Given the description of an element on the screen output the (x, y) to click on. 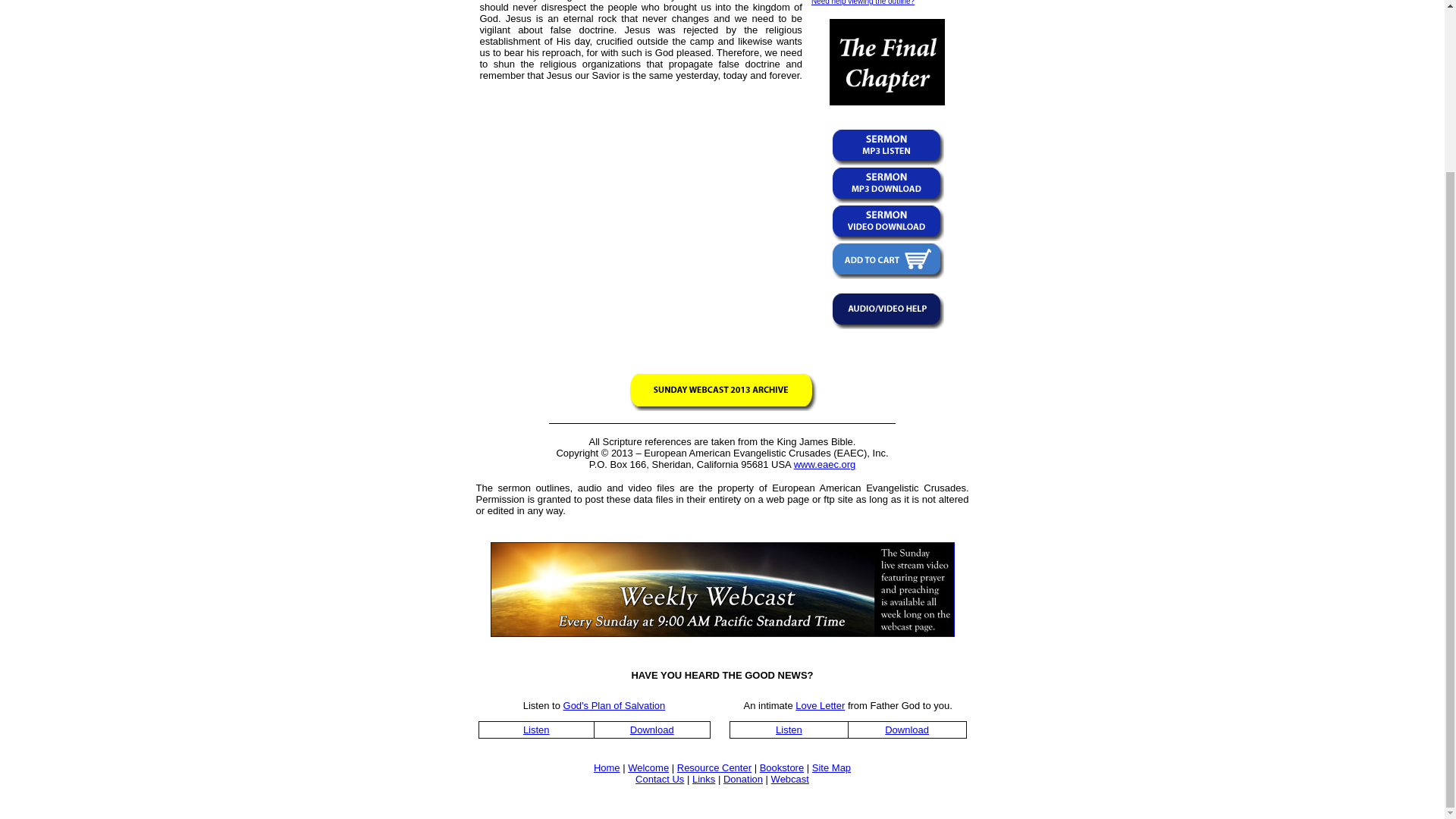
Resource Center (714, 767)
Need help viewing the outline? (862, 2)
God's Plan of Salvation (614, 705)
Download (906, 729)
Links (703, 778)
Love Letter (819, 705)
Listen (536, 729)
Welcome (647, 767)
Webcast (790, 778)
Site Map (831, 767)
Contact Us (659, 778)
Listen (789, 729)
www.eaec.org (824, 464)
Donation (742, 778)
Links (703, 778)
